Given the description of an element on the screen output the (x, y) to click on. 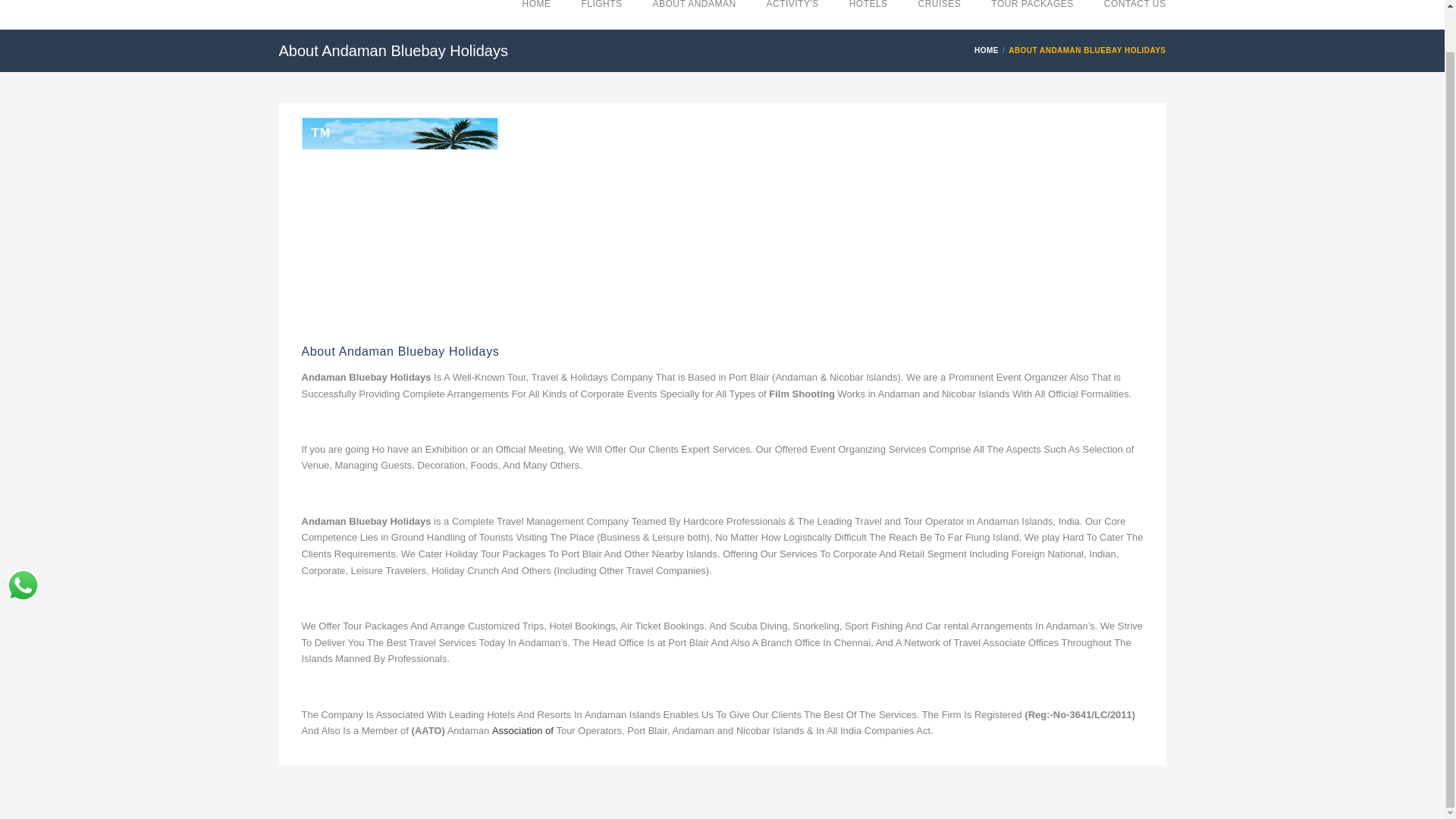
ABOUT ANDAMAN (694, 14)
FLIGHTS (600, 14)
Andaman Bluebay Holidays (392, 7)
HOTELS (868, 14)
ACTIVITY'S (792, 14)
HOME (536, 14)
